Given the description of an element on the screen output the (x, y) to click on. 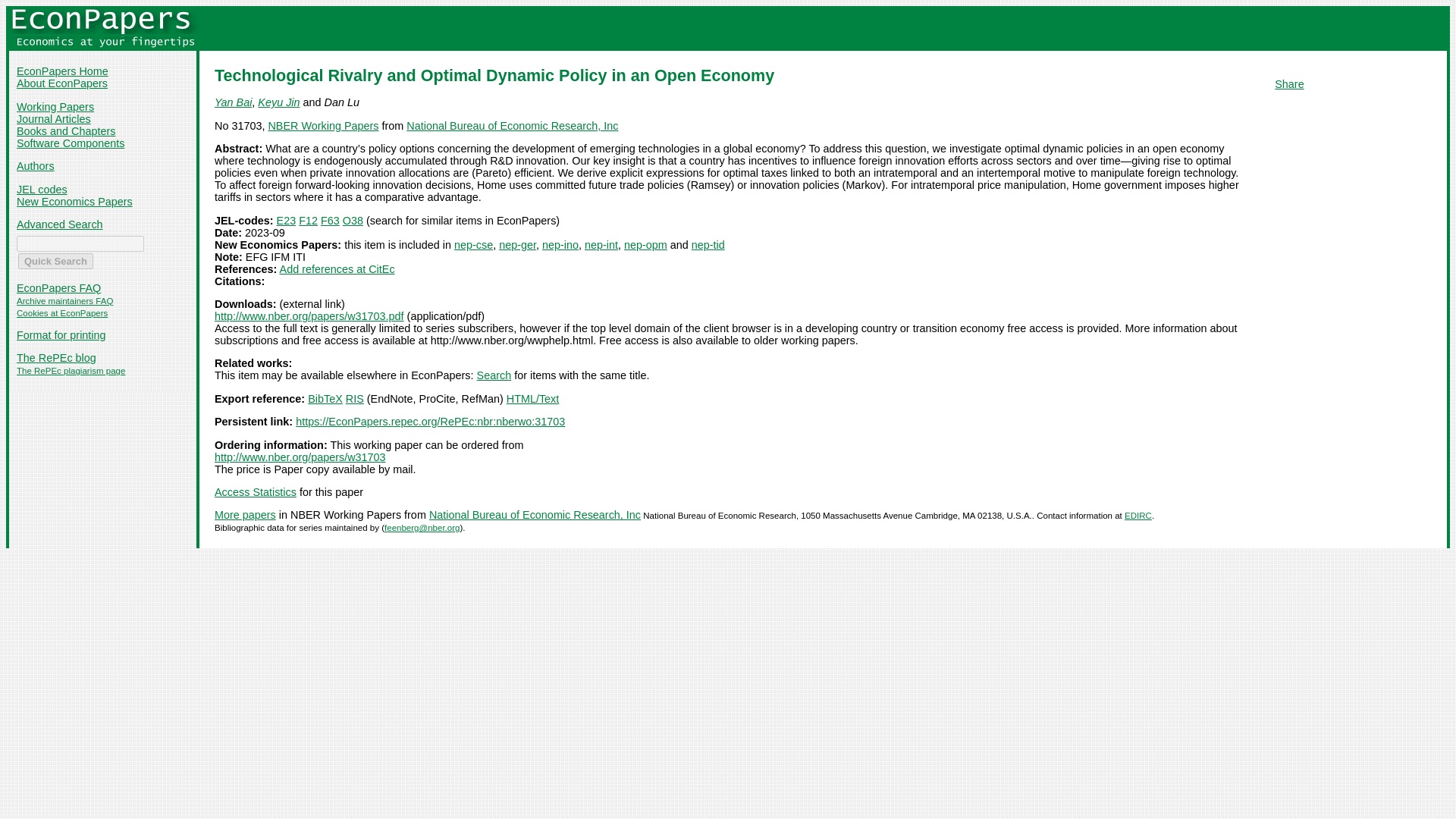
Cookies at EconPapers (61, 312)
nep-ino (559, 244)
More papers (245, 514)
Format for printing (61, 335)
nep-tid (708, 244)
Books and Chapters (65, 131)
Advanced Search (59, 224)
nep-int (601, 244)
E23 (286, 220)
Journal Articles (53, 119)
